Given the description of an element on the screen output the (x, y) to click on. 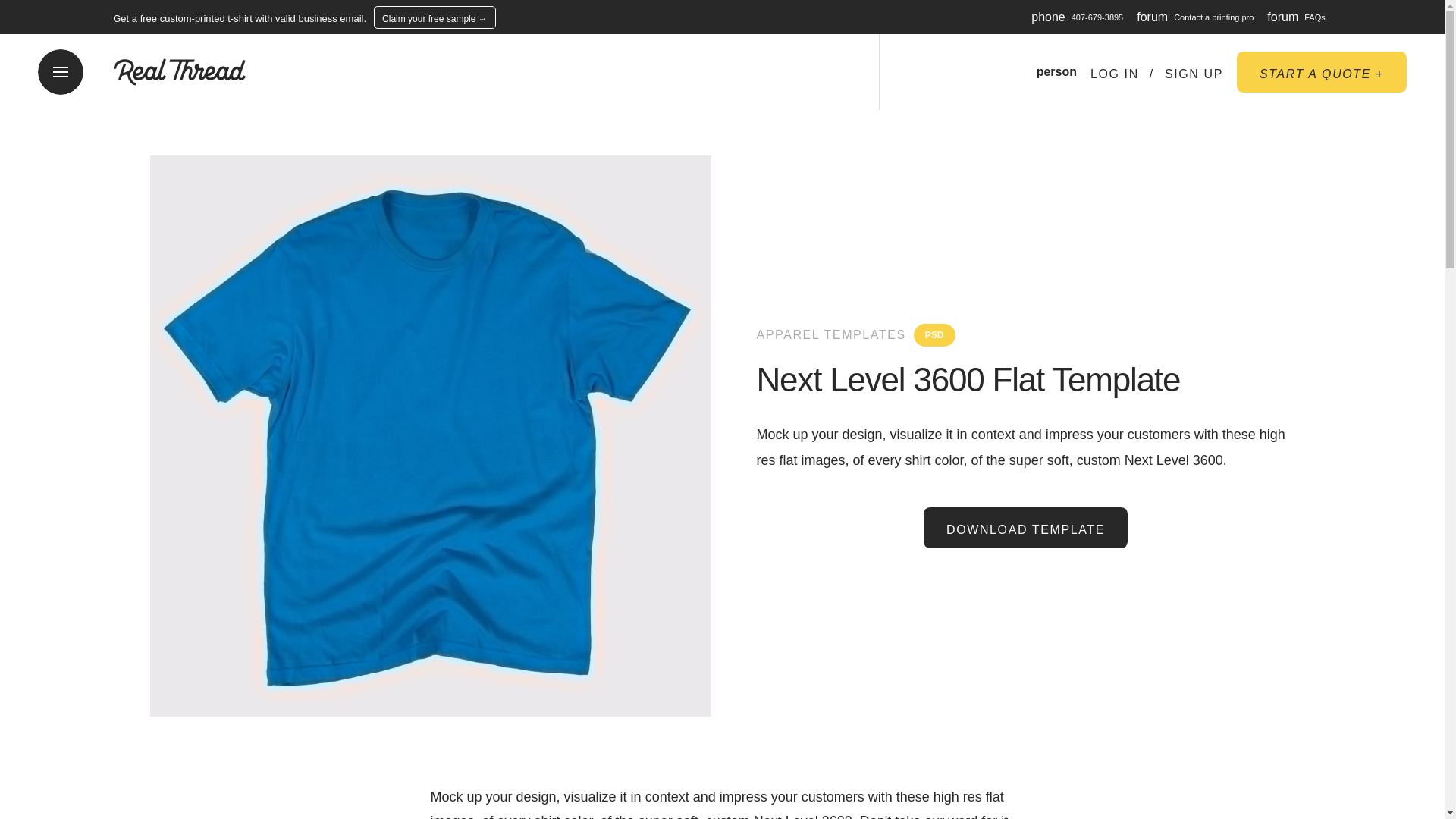
SIGN UP (1193, 74)
407-679-3895 (1097, 17)
Contact a printing pro (1213, 17)
LOG IN (1114, 74)
FAQs (1314, 17)
Get a free custom-printed t-shirt with valid business email. (239, 18)
